Given the description of an element on the screen output the (x, y) to click on. 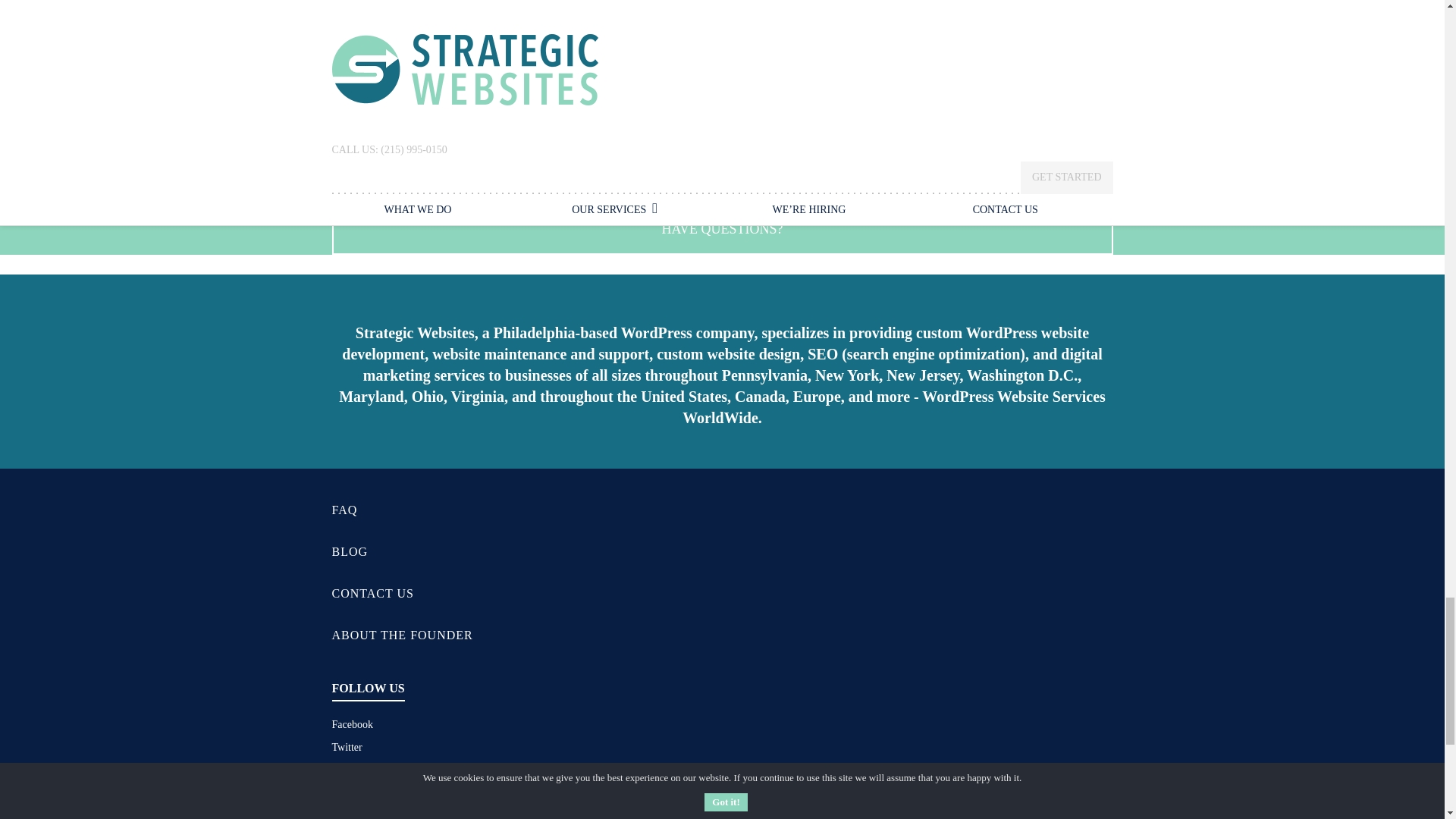
Twitter (346, 747)
GET STARTED (722, 160)
ABOUT THE FOUNDER (402, 634)
FAQ (344, 509)
Facebook (351, 724)
BLOG (349, 551)
CONTACT US (372, 593)
HAVE QUESTIONS? (722, 228)
